Given the description of an element on the screen output the (x, y) to click on. 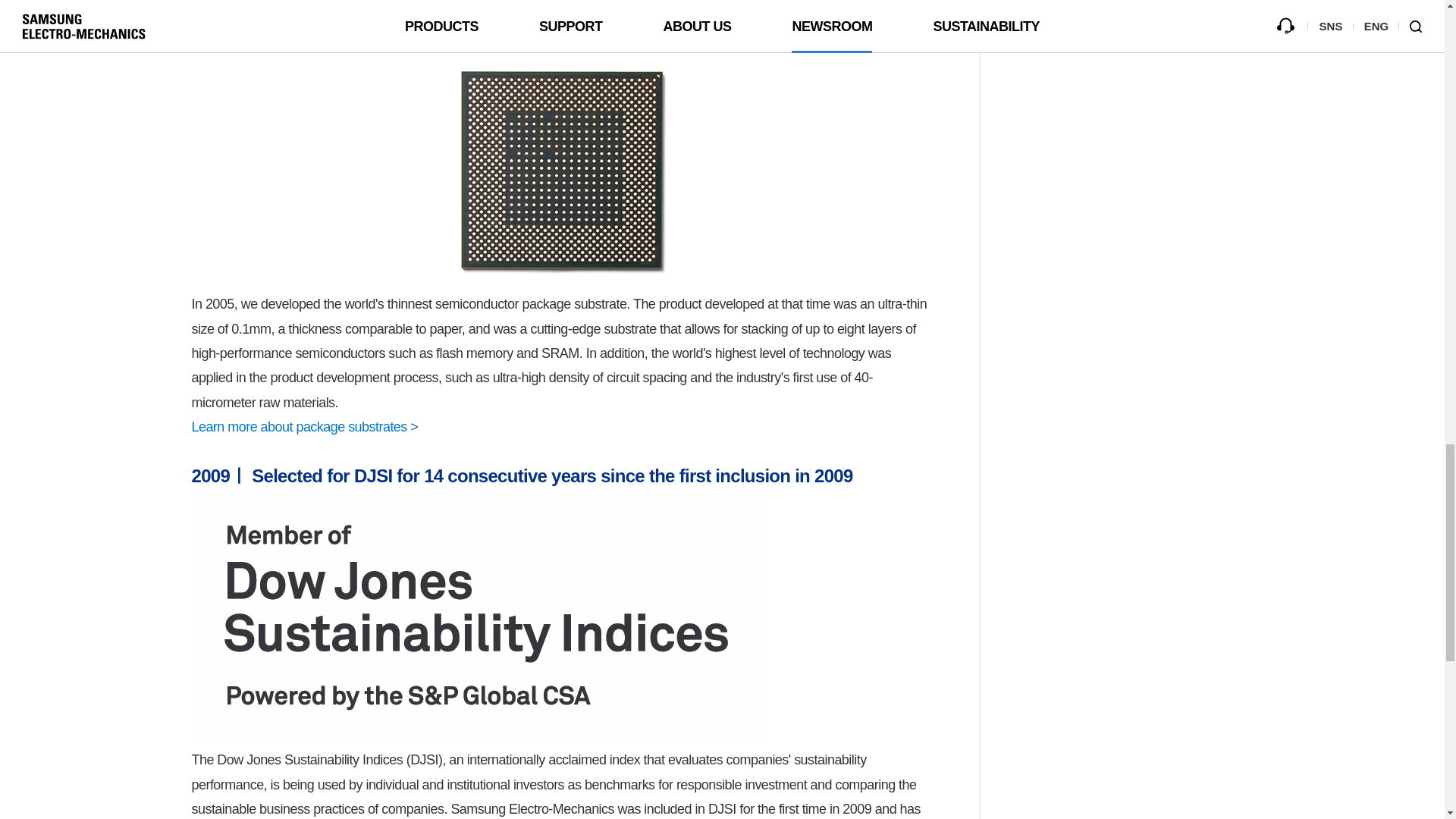
img1.jpg (562, 170)
